Given the description of an element on the screen output the (x, y) to click on. 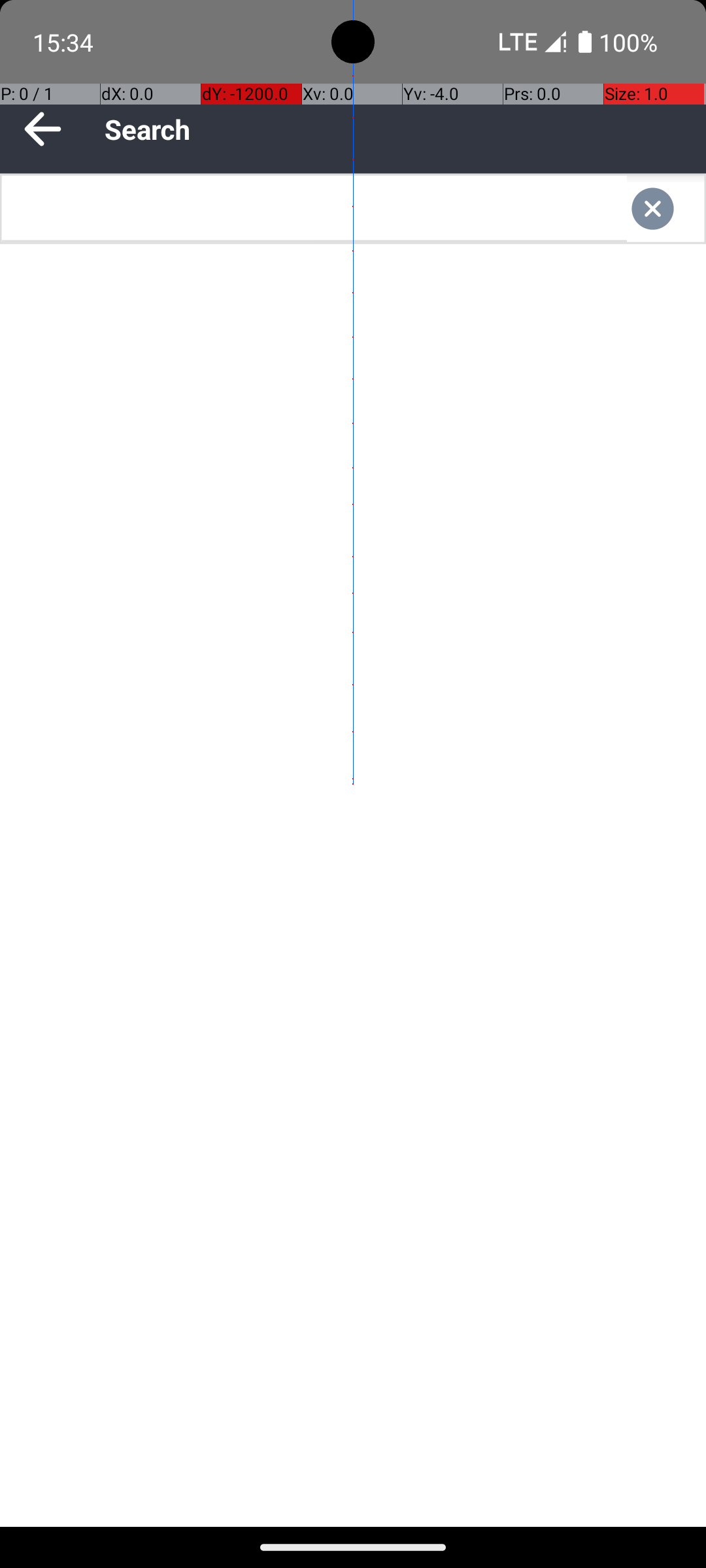
 Element type: android.widget.TextView (665, 208)
